Given the description of an element on the screen output the (x, y) to click on. 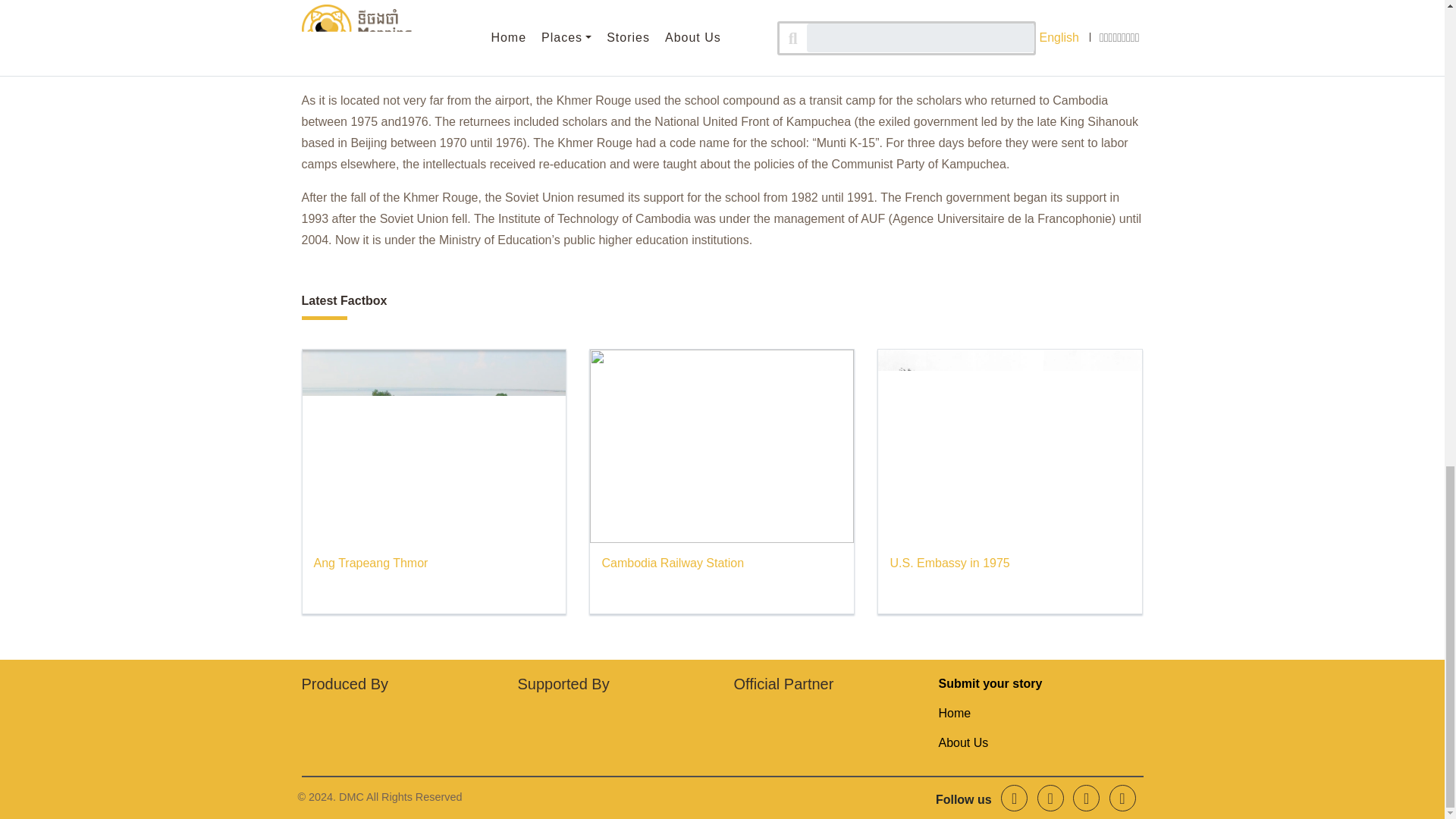
Cambodia Railway Station (672, 562)
U.S. Embassy in 1975 (949, 562)
Ang Trapeang Thmor (371, 562)
Ang Trapeang Thmor (371, 562)
Cambodia Railway Station (672, 562)
